Given the description of an element on the screen output the (x, y) to click on. 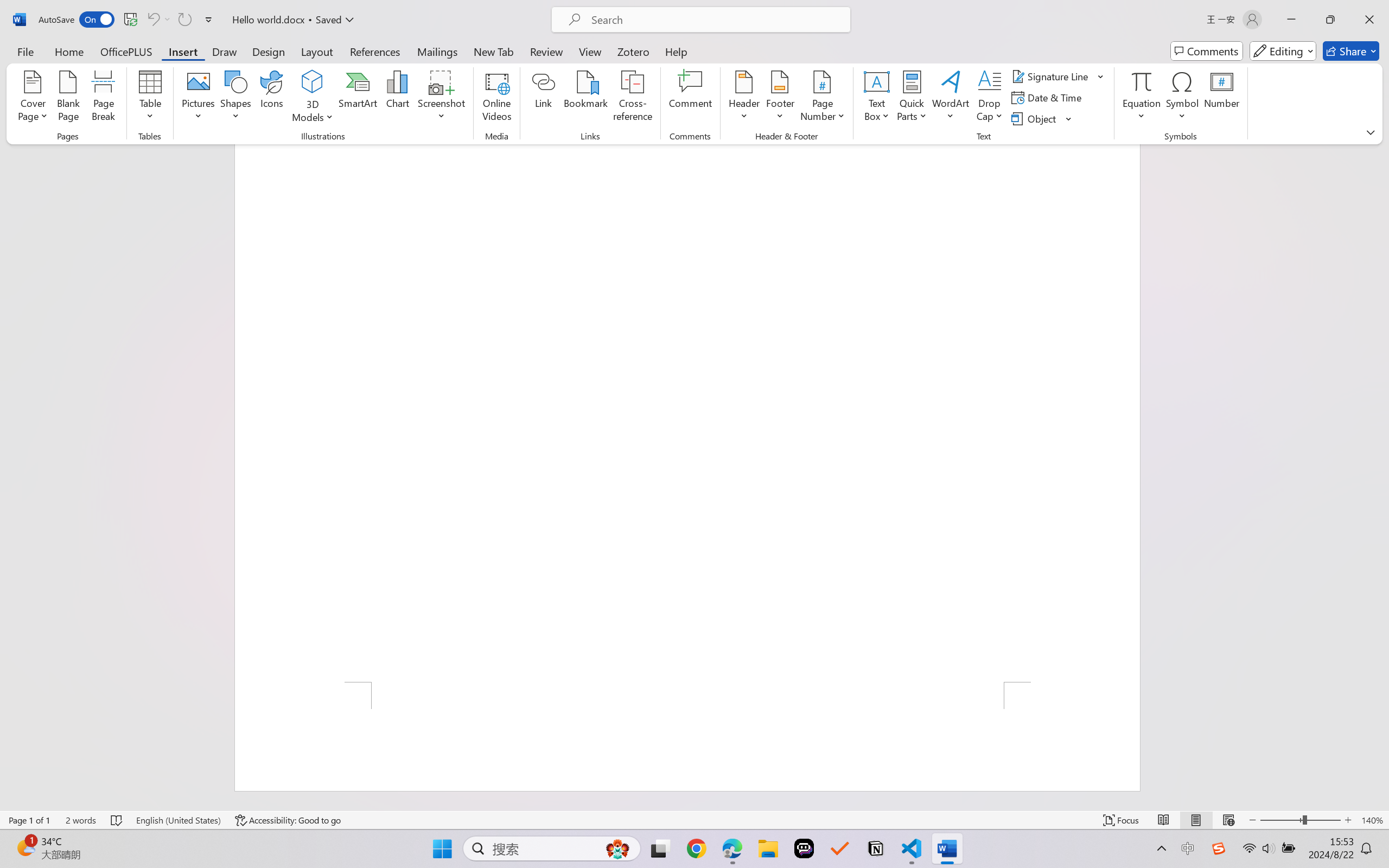
Close (1369, 19)
Class: Image (1218, 847)
AutomationID: BadgeAnchorLargeTicker (24, 847)
Can't Undo (152, 19)
Share (1350, 51)
Customize Quick Access Toolbar (208, 19)
Help (675, 51)
Save (130, 19)
Zotero (632, 51)
Page Number Page 1 of 1 (29, 819)
